Given the description of an element on the screen output the (x, y) to click on. 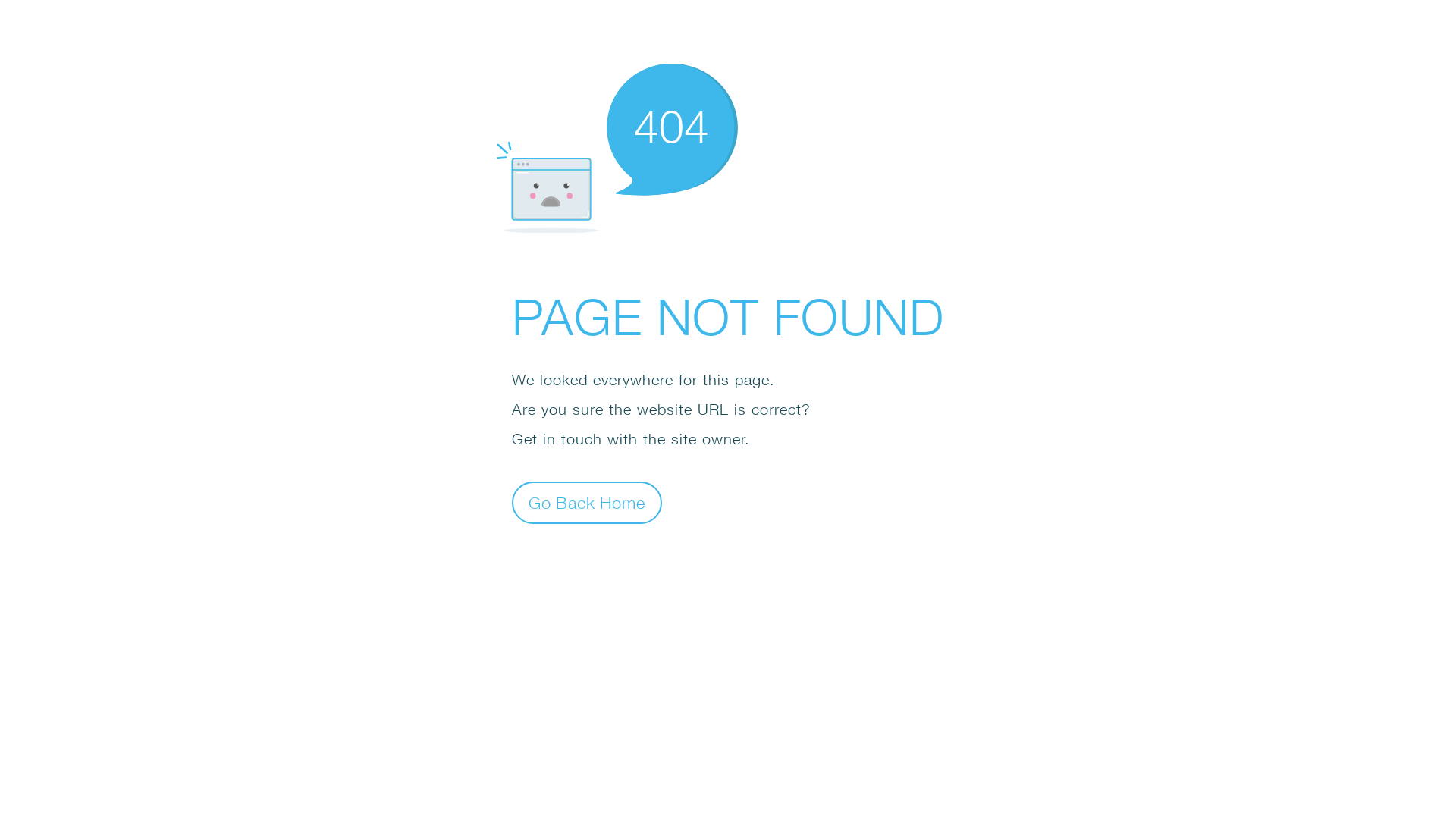
Go Back Home Element type: text (586, 502)
